Given the description of an element on the screen output the (x, y) to click on. 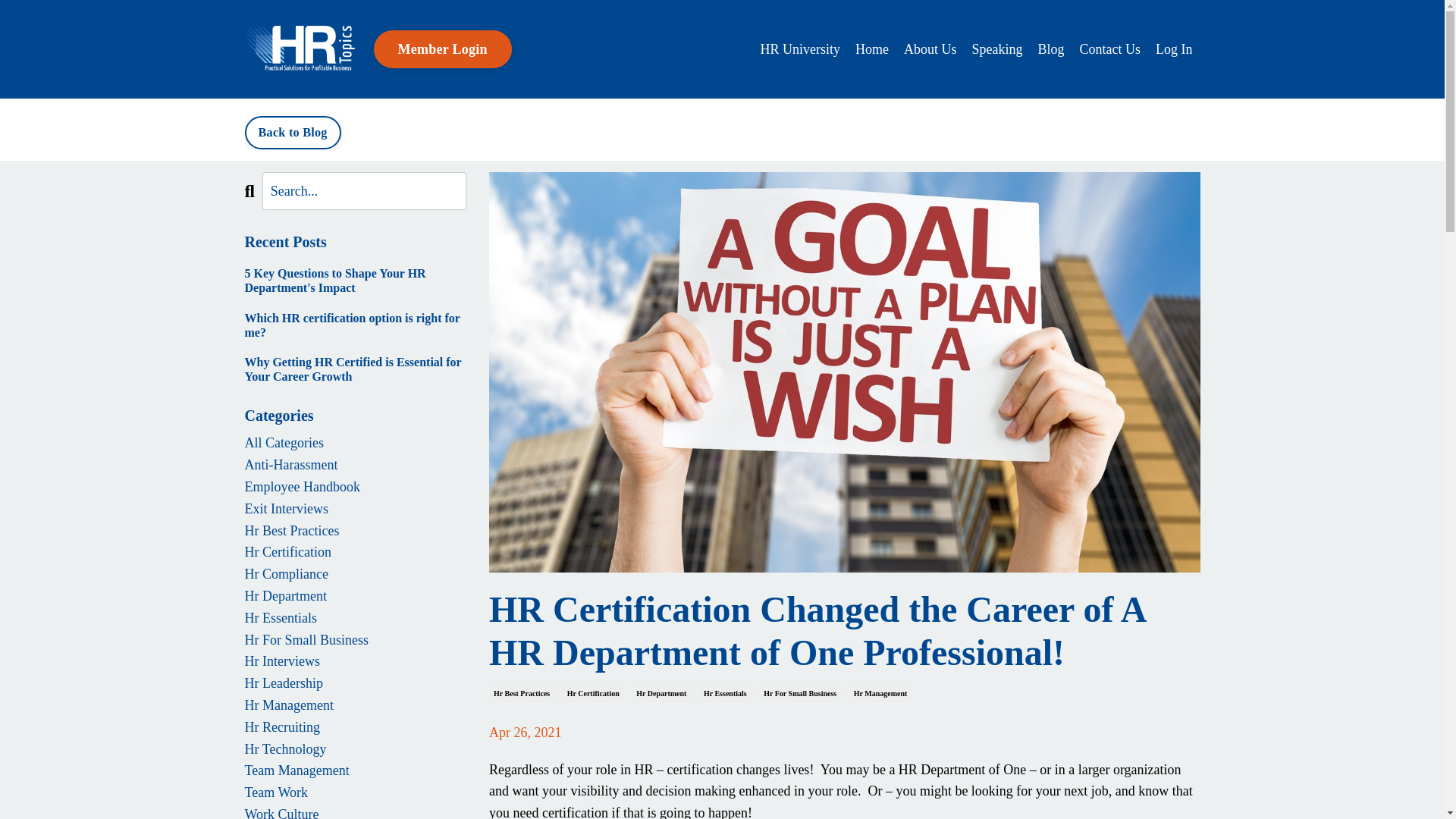
Member Login (441, 48)
Blog (1050, 49)
Hr Compliance (354, 574)
Why Getting HR Certified is Essential for Your Career Growth (354, 369)
Hr Essentials (724, 693)
Hr Department (354, 596)
Hr Management (354, 705)
Exit Interviews (354, 508)
Which HR certification option is right for me? (354, 325)
Hr For Small Business (354, 640)
HR University (800, 49)
Speaking (996, 49)
Back to Blog (292, 132)
Team Work (354, 792)
Hr Certification (593, 693)
